Given the description of an element on the screen output the (x, y) to click on. 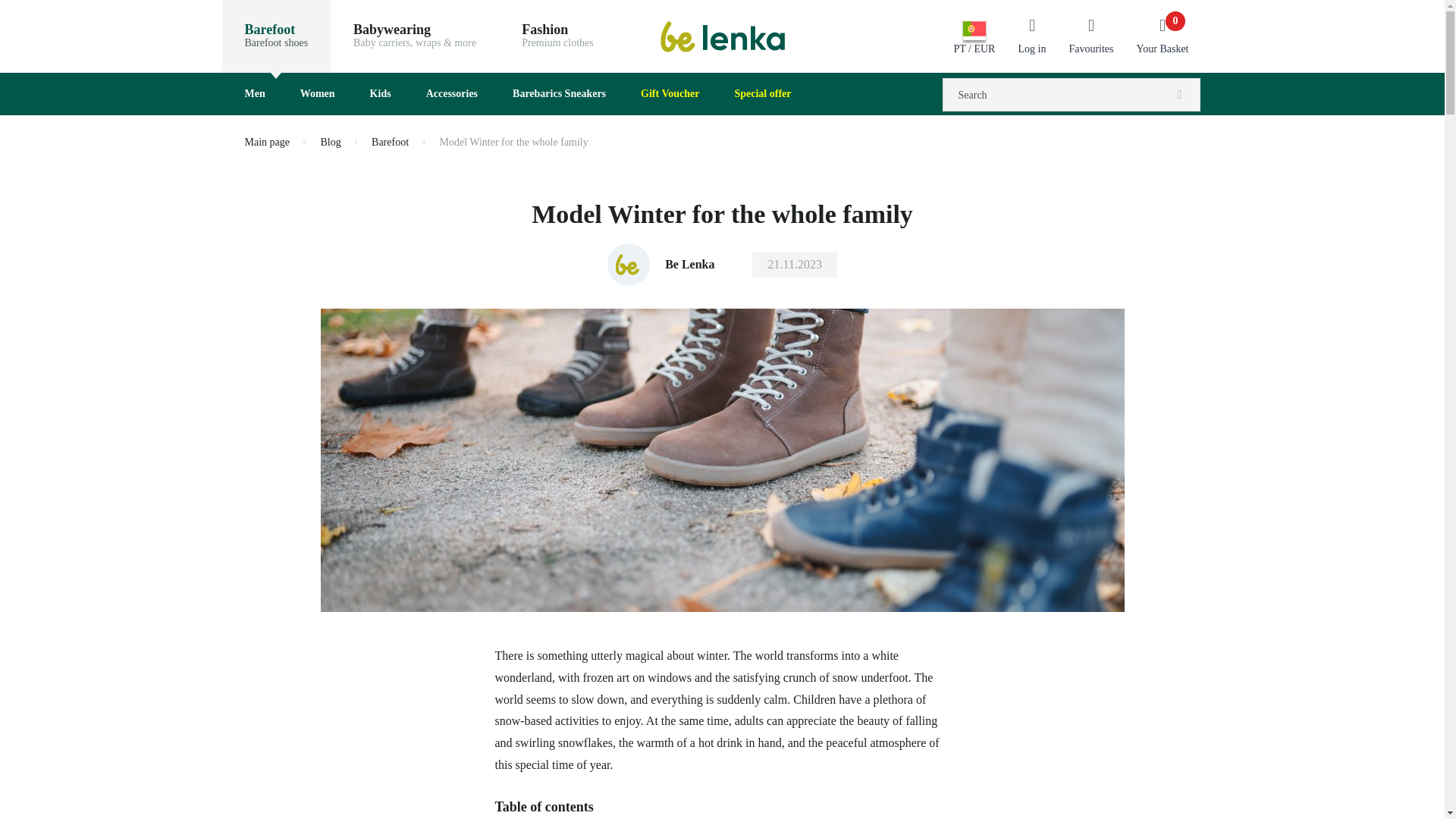
Log in (1031, 36)
Men (255, 93)
Women (320, 93)
Search (1179, 96)
Favourites (557, 36)
